Given the description of an element on the screen output the (x, y) to click on. 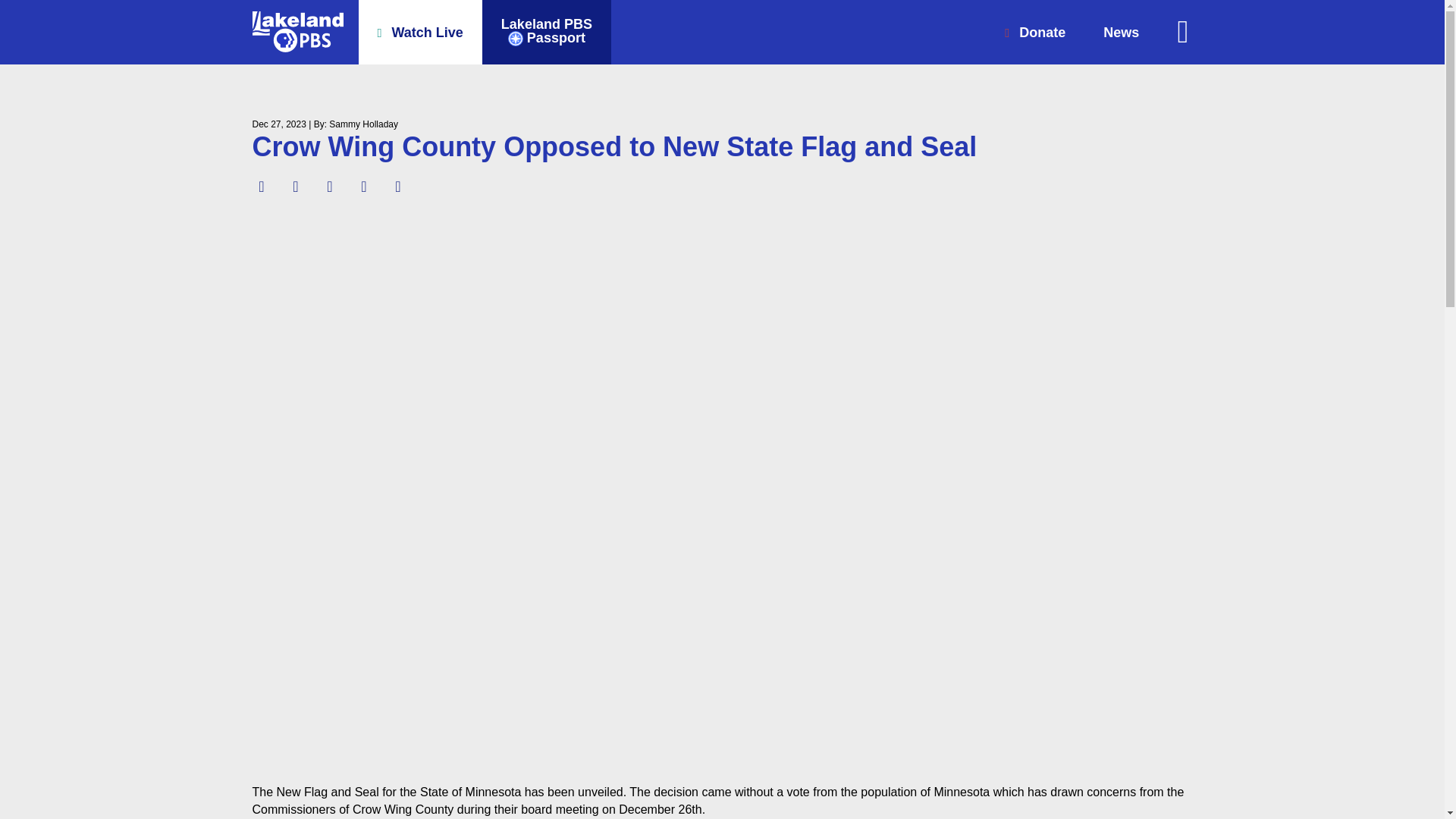
Donate (546, 32)
News (1034, 32)
Watch Live (1120, 32)
